Given the description of an element on the screen output the (x, y) to click on. 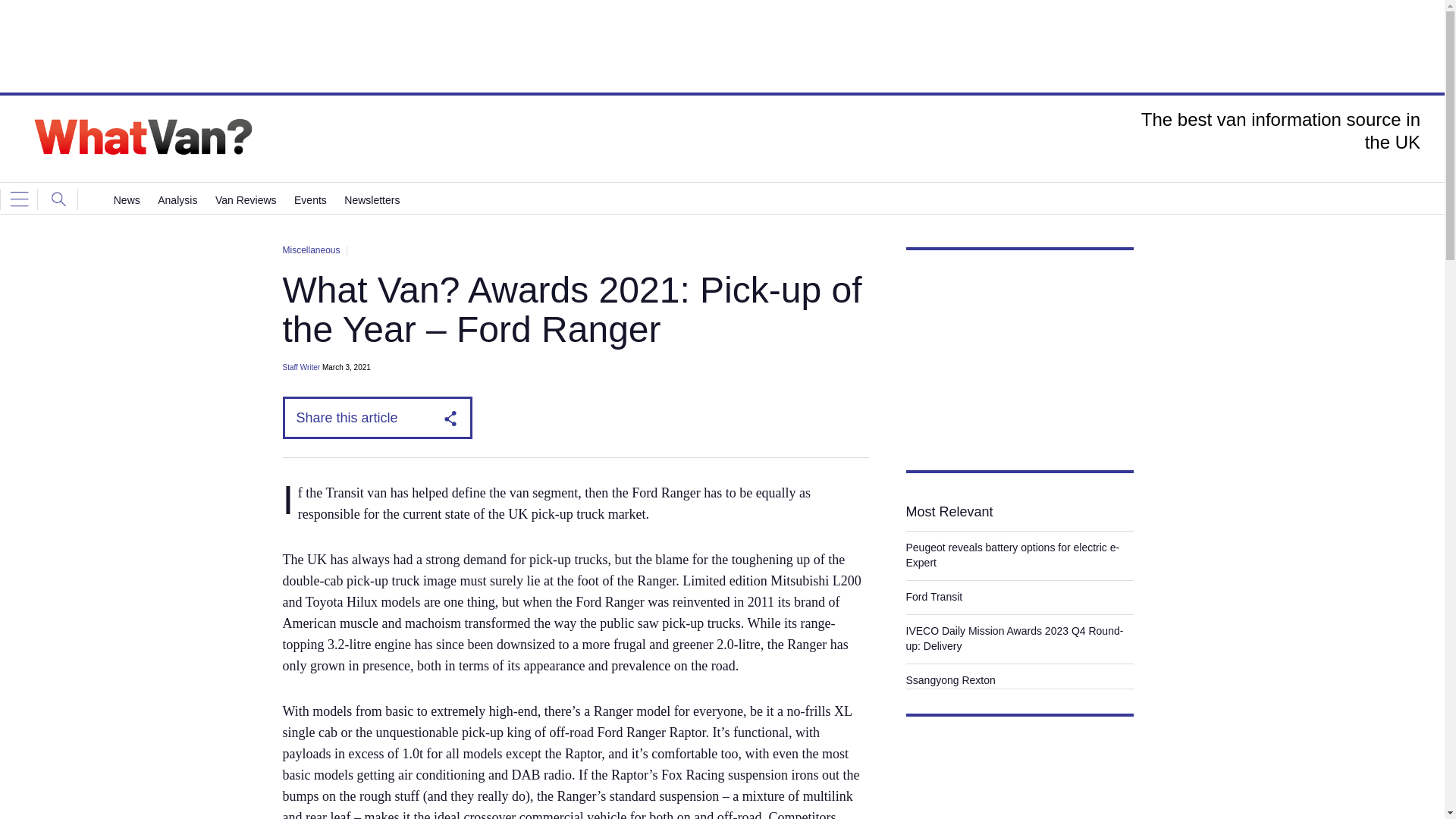
Van Reviews (245, 200)
Events (310, 200)
Analysis (176, 200)
3rd party ad content (721, 46)
